Given the description of an element on the screen output the (x, y) to click on. 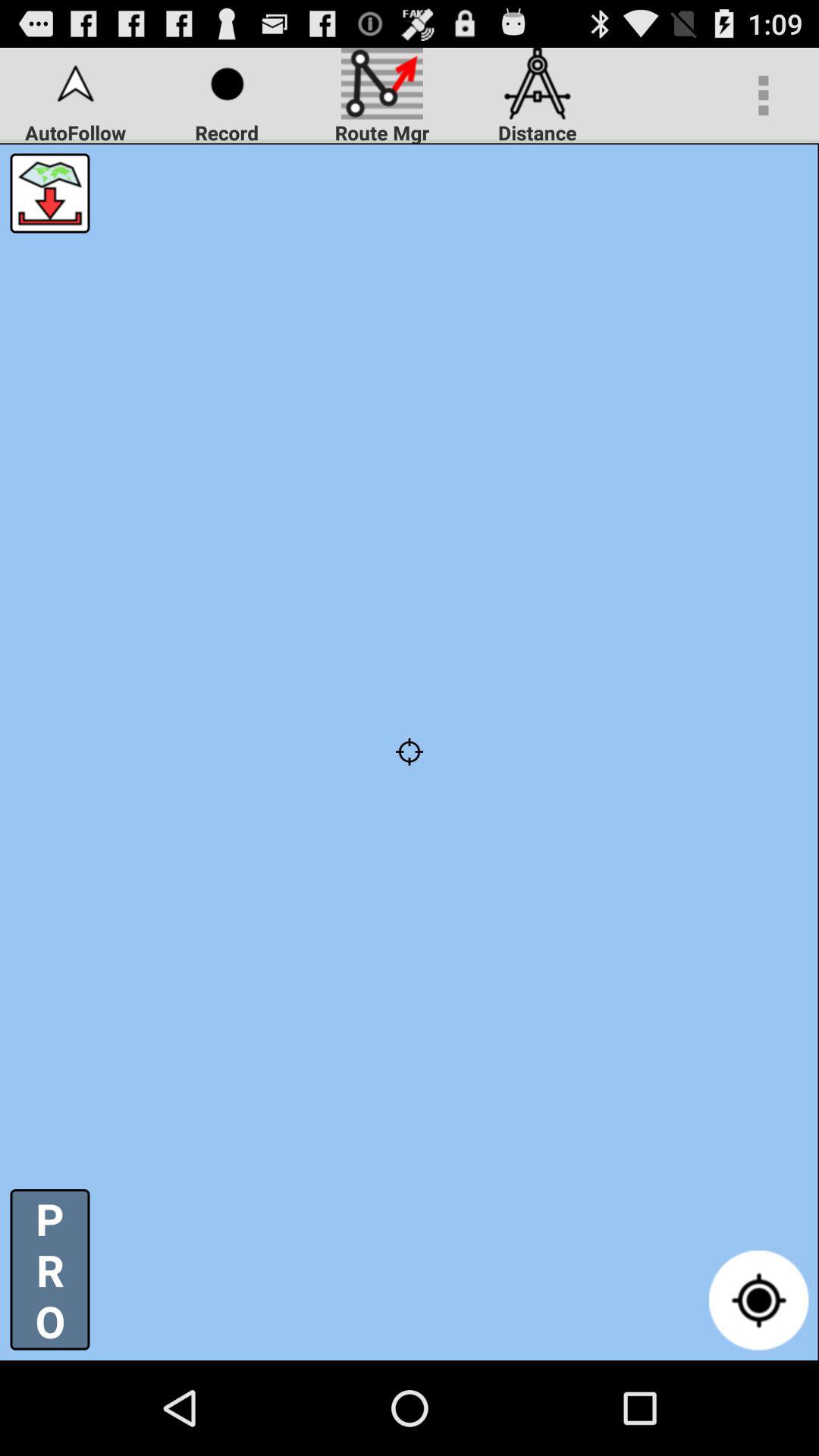
open item at the bottom right corner (758, 1300)
